Given the description of an element on the screen output the (x, y) to click on. 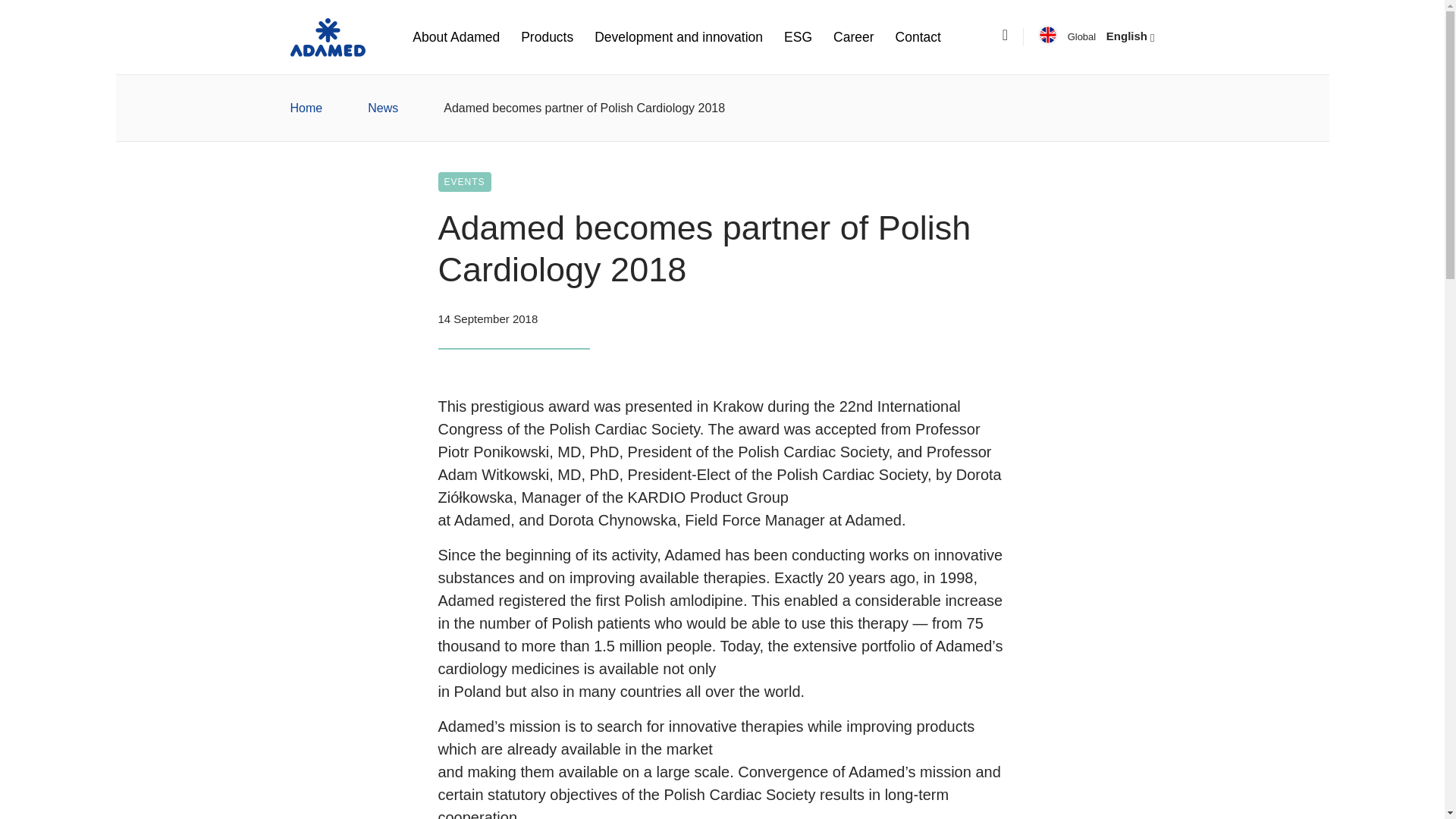
About Adamed (455, 37)
Products (547, 37)
ESG (798, 37)
Development and innovation (678, 37)
Products (547, 37)
Contact (917, 37)
About Adamed (455, 37)
ESG (798, 37)
Career (853, 37)
Development and innovation (678, 37)
